Given the description of an element on the screen output the (x, y) to click on. 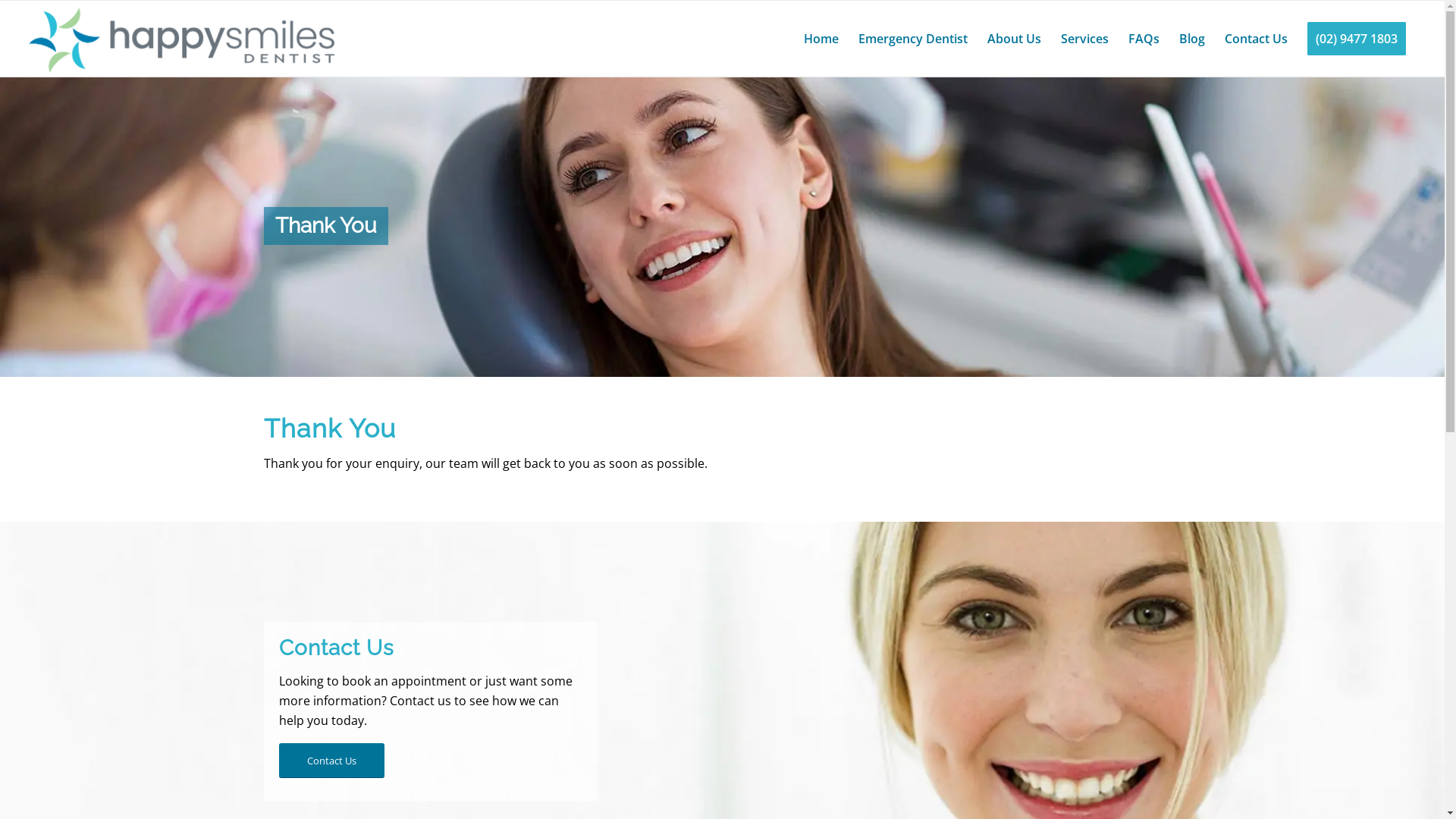
Home Element type: text (820, 38)
Services Top Banner 6 Element type: hover (722, 225)
Blog Element type: text (1191, 38)
Emergency Dentist Element type: text (912, 38)
Contact Us Element type: text (331, 760)
FAQs Element type: text (1143, 38)
About Us Element type: text (1014, 38)
Services Element type: text (1084, 38)
Contact Us Element type: text (1255, 38)
(02) 9477 1803 Element type: text (1356, 38)
